Given the description of an element on the screen output the (x, y) to click on. 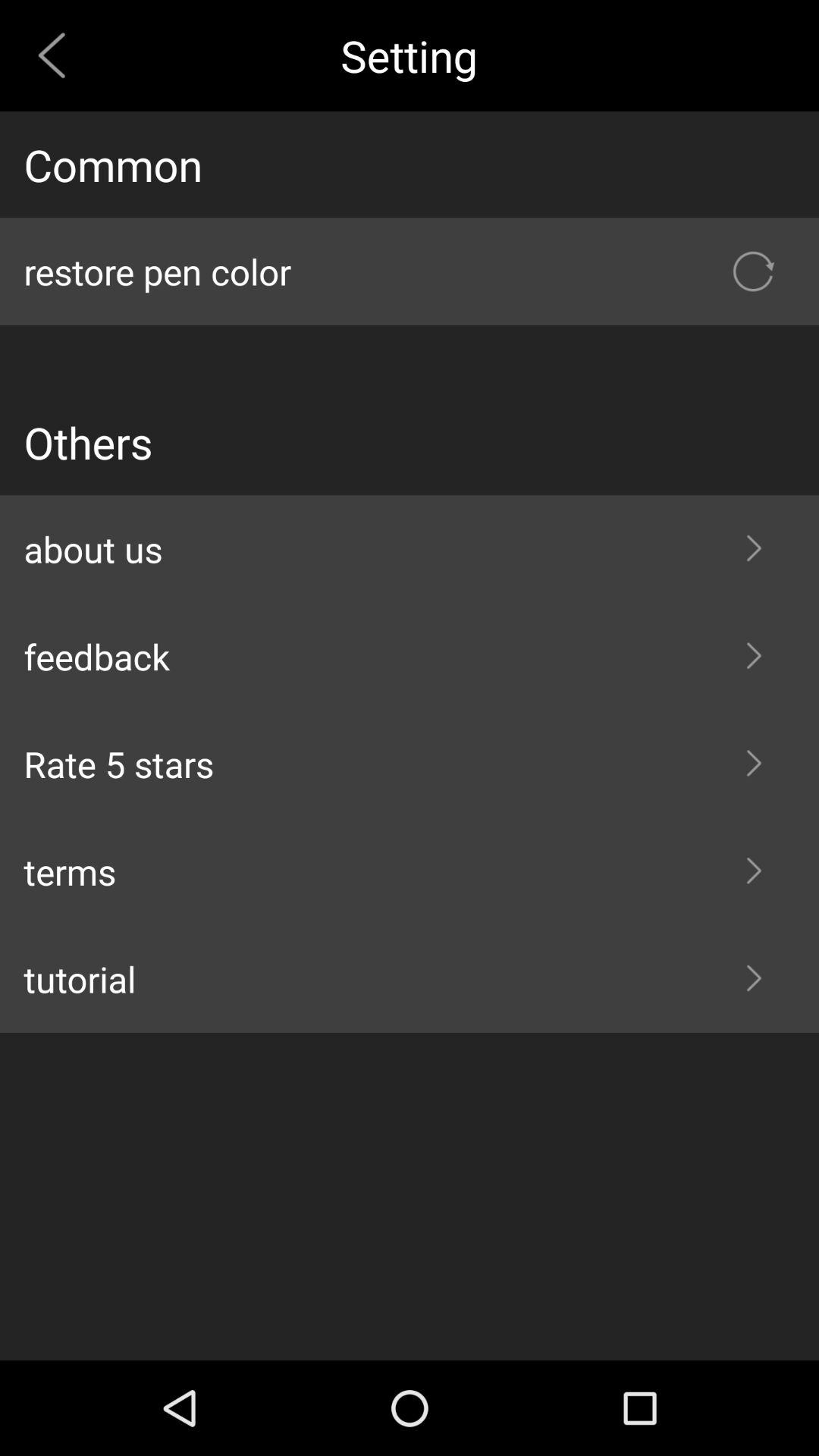
flip to tutorial item (409, 978)
